Given the description of an element on the screen output the (x, y) to click on. 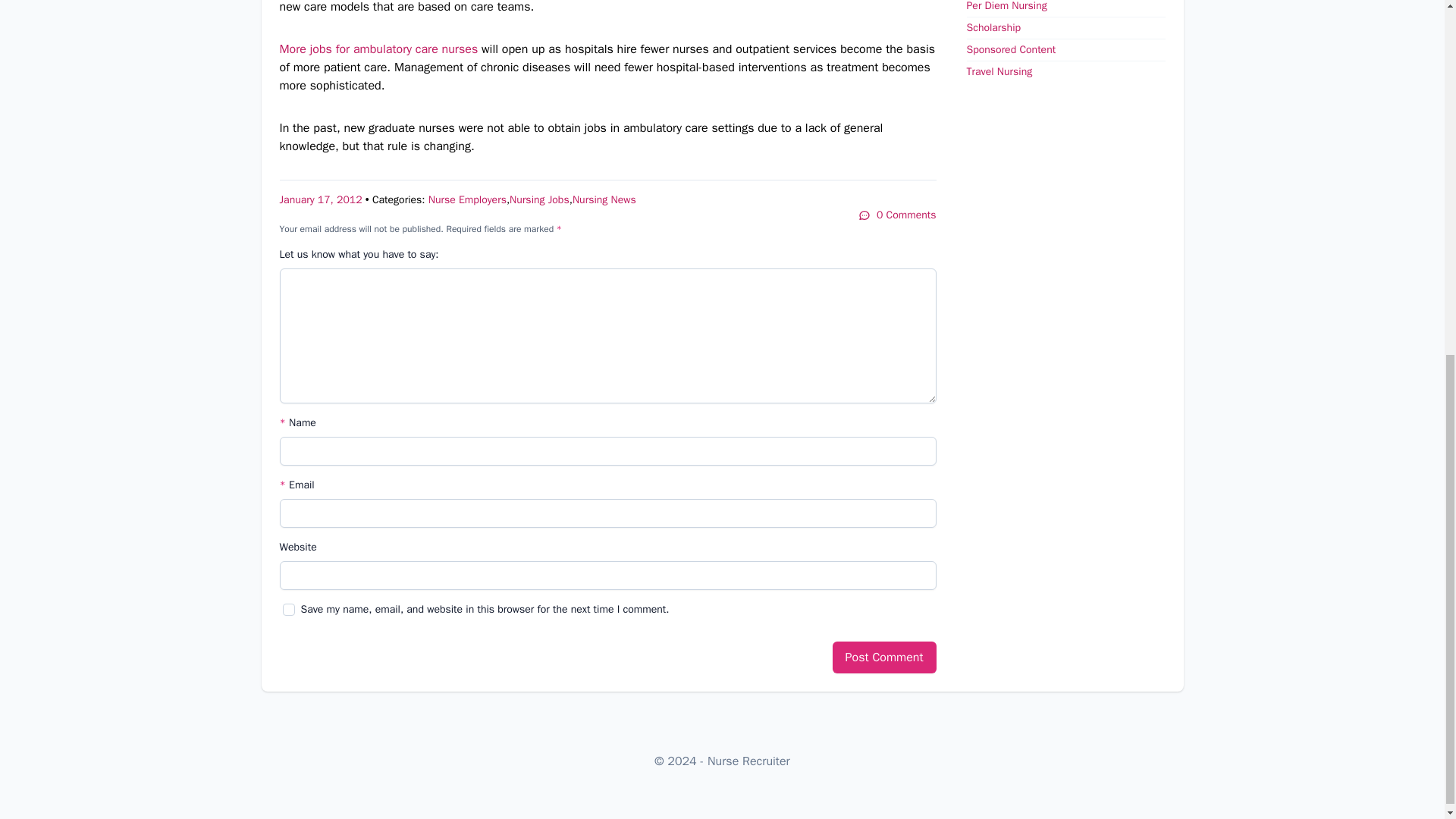
Nursing News (604, 199)
yes (288, 609)
Go to comment section (897, 215)
Nurse Employers (467, 199)
Sponsored Content (1010, 49)
Nursing Jobs (539, 199)
More jobs for ambulatory care nurses (378, 48)
Per Diem Nursing (1006, 6)
Permalink to Ambulatory Care Nurse Specialty (320, 199)
January 17, 2012 (320, 199)
Travel Nursing (999, 71)
Post Comment (884, 657)
Post Comment (884, 657)
Scholarship (993, 27)
0 Comments (897, 215)
